Given the description of an element on the screen output the (x, y) to click on. 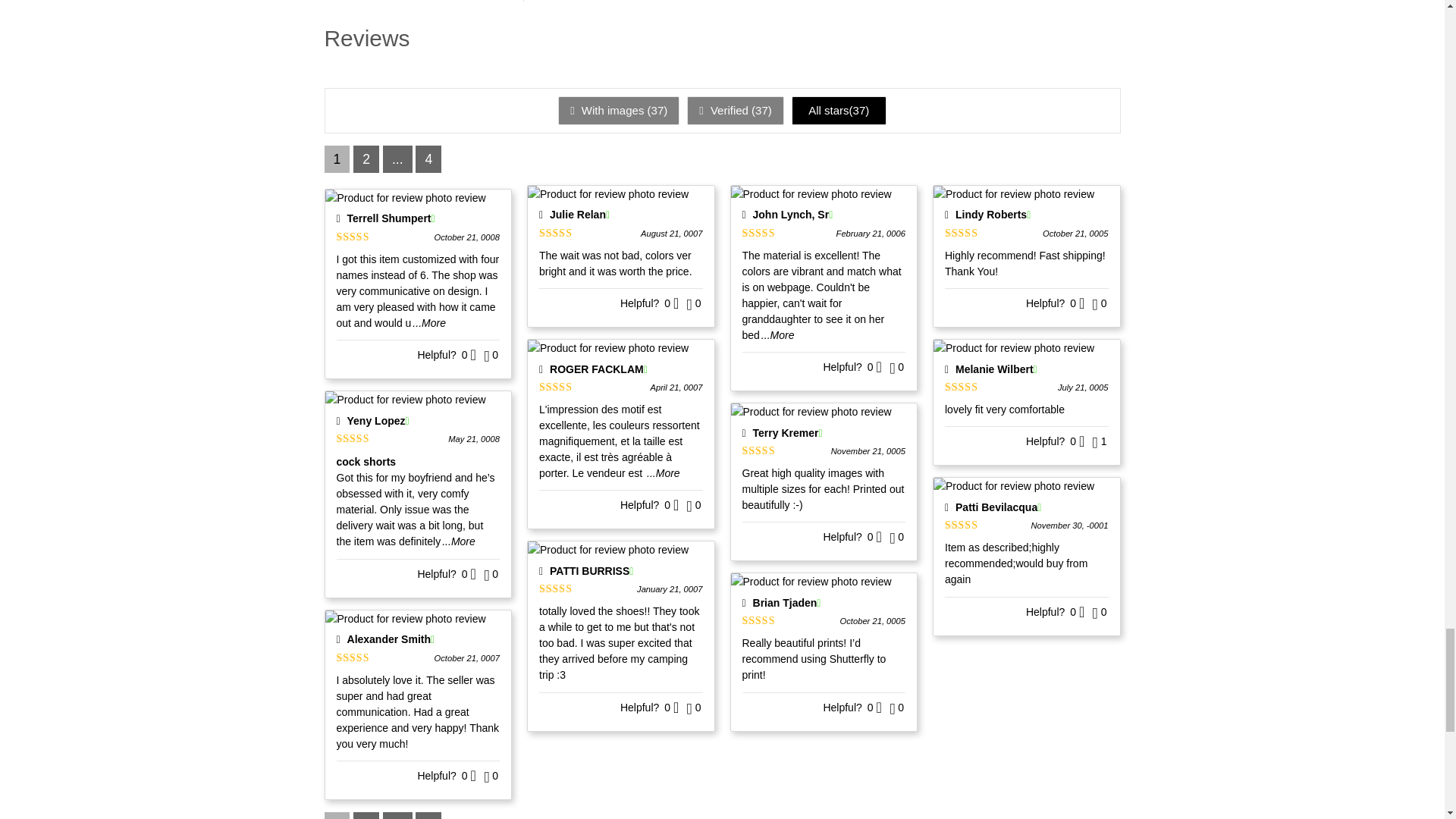
Read more (778, 335)
Read more (663, 472)
cock shorts (418, 461)
Read more (428, 322)
Read more (459, 541)
